Given the description of an element on the screen output the (x, y) to click on. 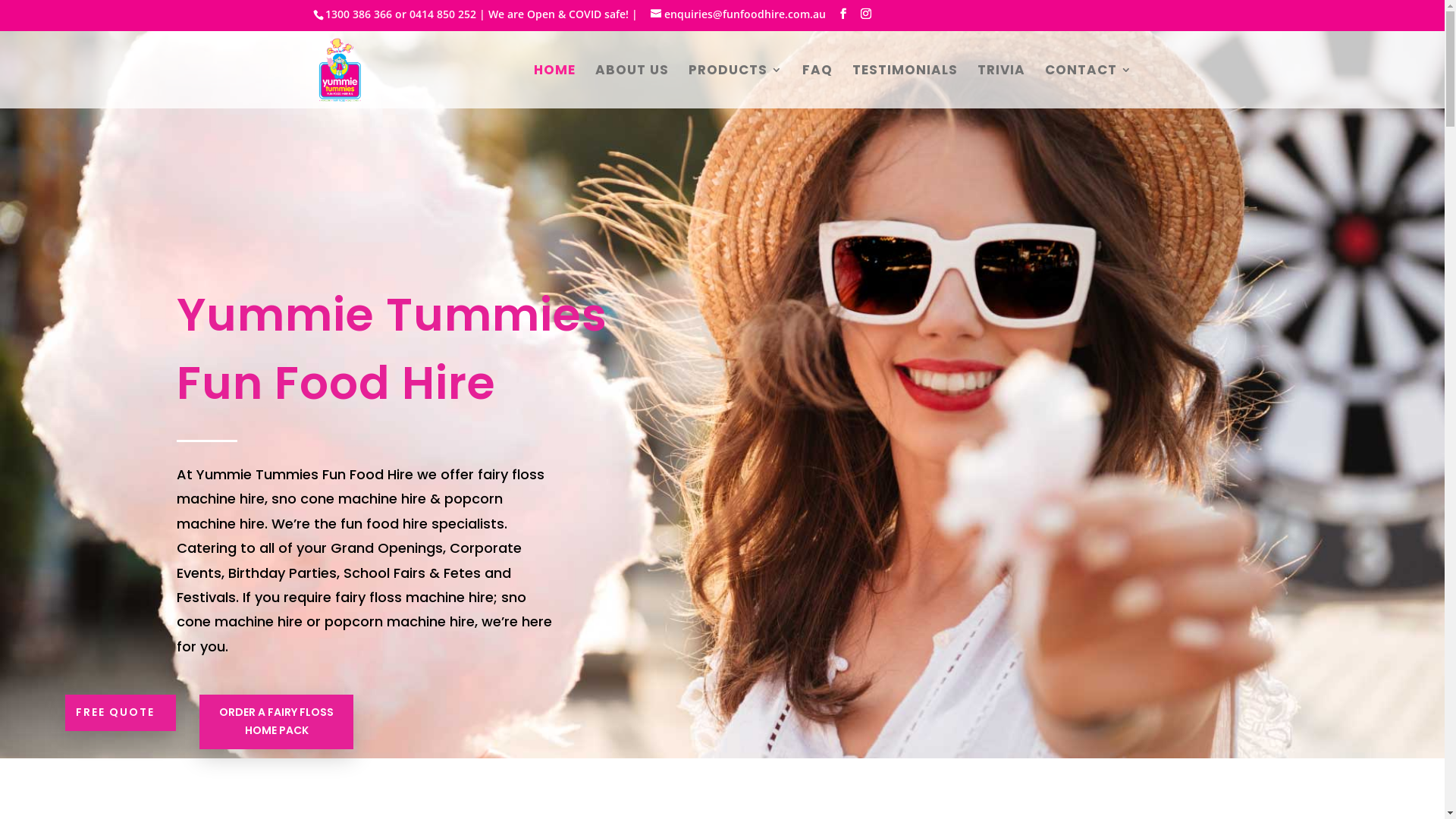
enquiries@funfoodhire.com.au Element type: text (737, 13)
CONTACT Element type: text (1088, 86)
FREE QUOTE Element type: text (120, 712)
FAQ Element type: text (817, 86)
ABOUT US Element type: text (631, 86)
ORDER A FAIRY FLOSS HOME PACK Element type: text (276, 721)
HOME Element type: text (554, 86)
TESTIMONIALS Element type: text (904, 86)
PRODUCTS Element type: text (735, 86)
0414 850 252 Element type: text (442, 13)
TRIVIA Element type: text (1000, 86)
1300 386 366 Element type: text (357, 13)
